Given the description of an element on the screen output the (x, y) to click on. 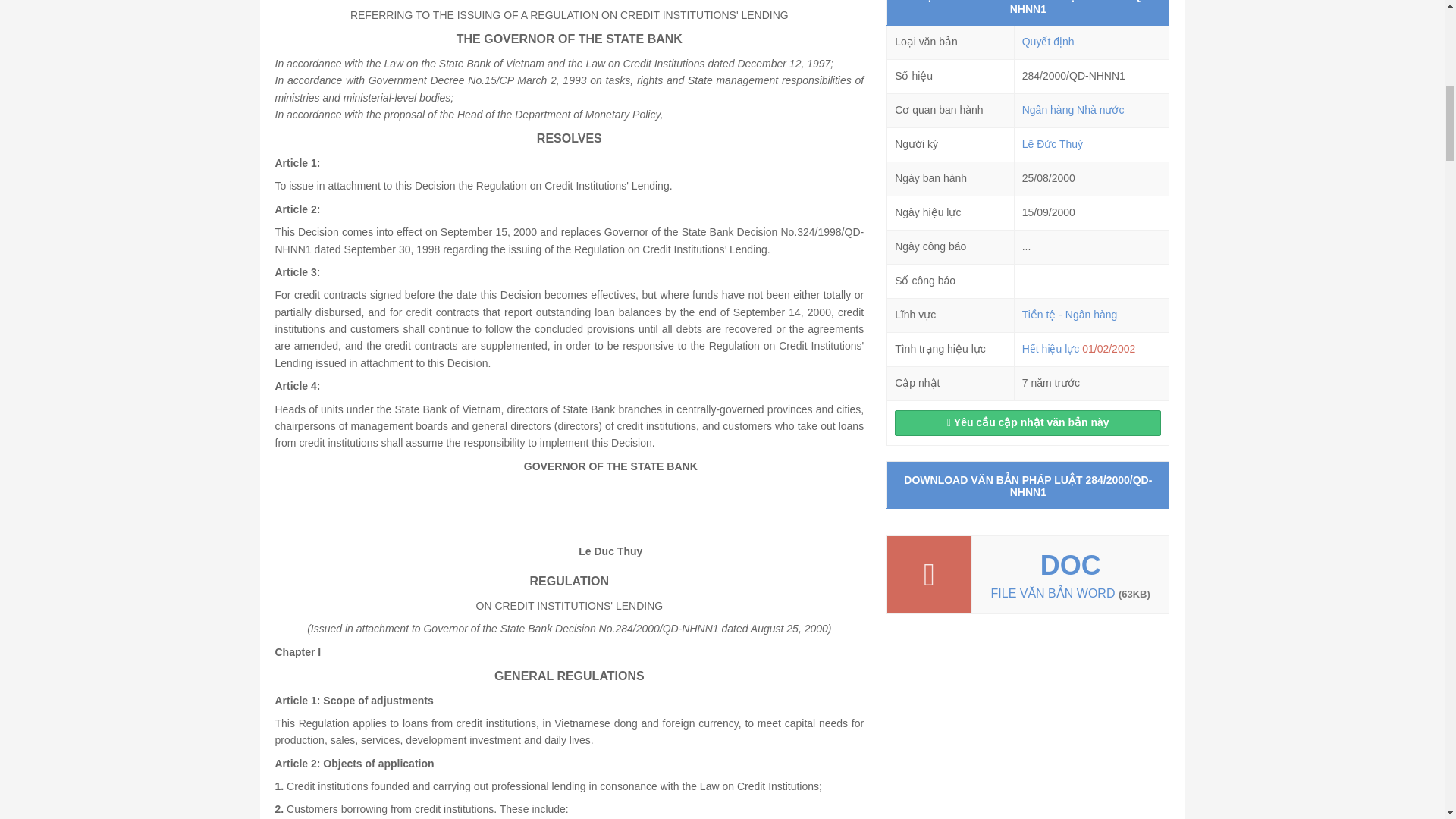
DOC (1070, 564)
